Given the description of an element on the screen output the (x, y) to click on. 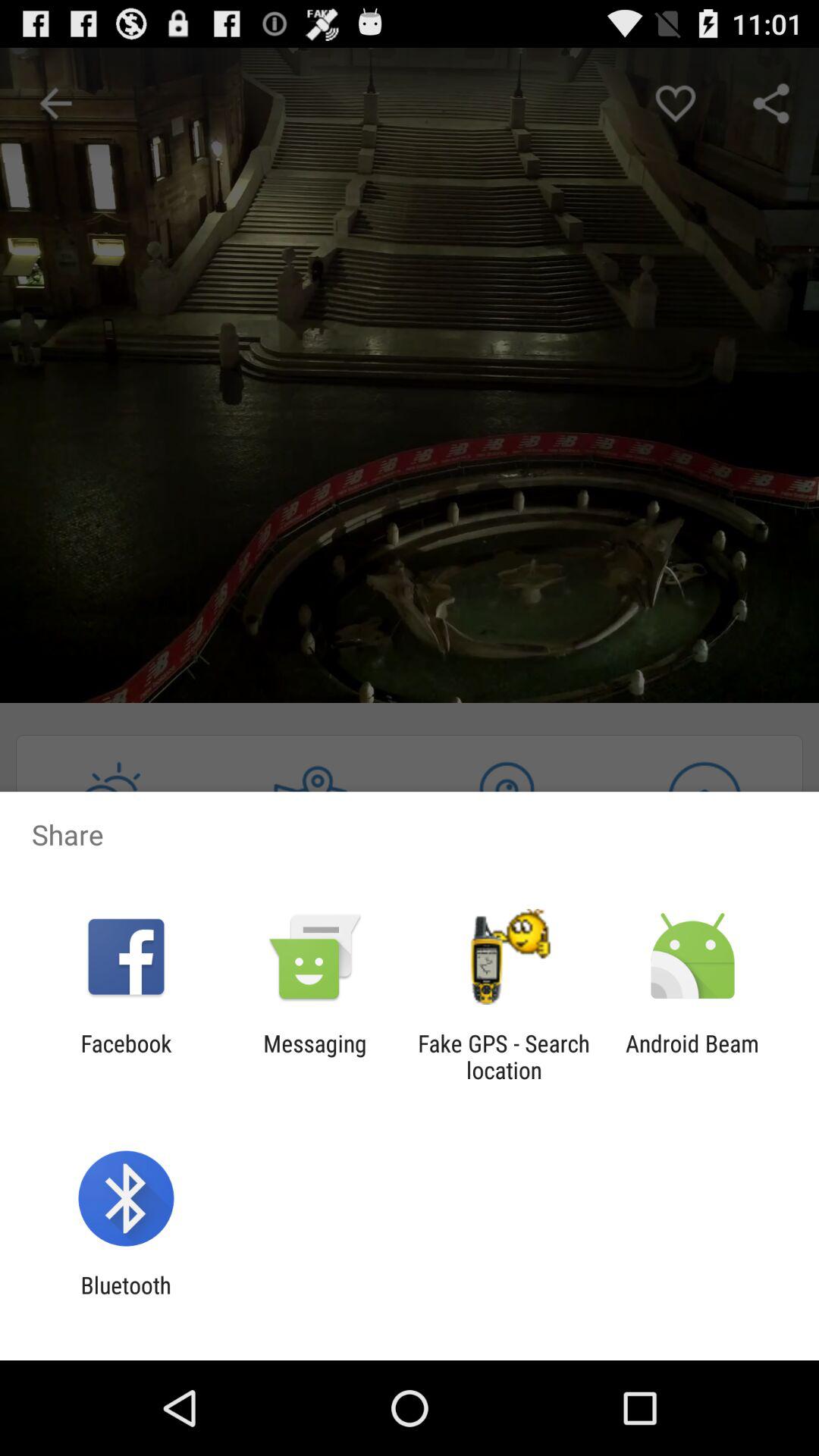
turn on the app next to the messaging (503, 1056)
